Given the description of an element on the screen output the (x, y) to click on. 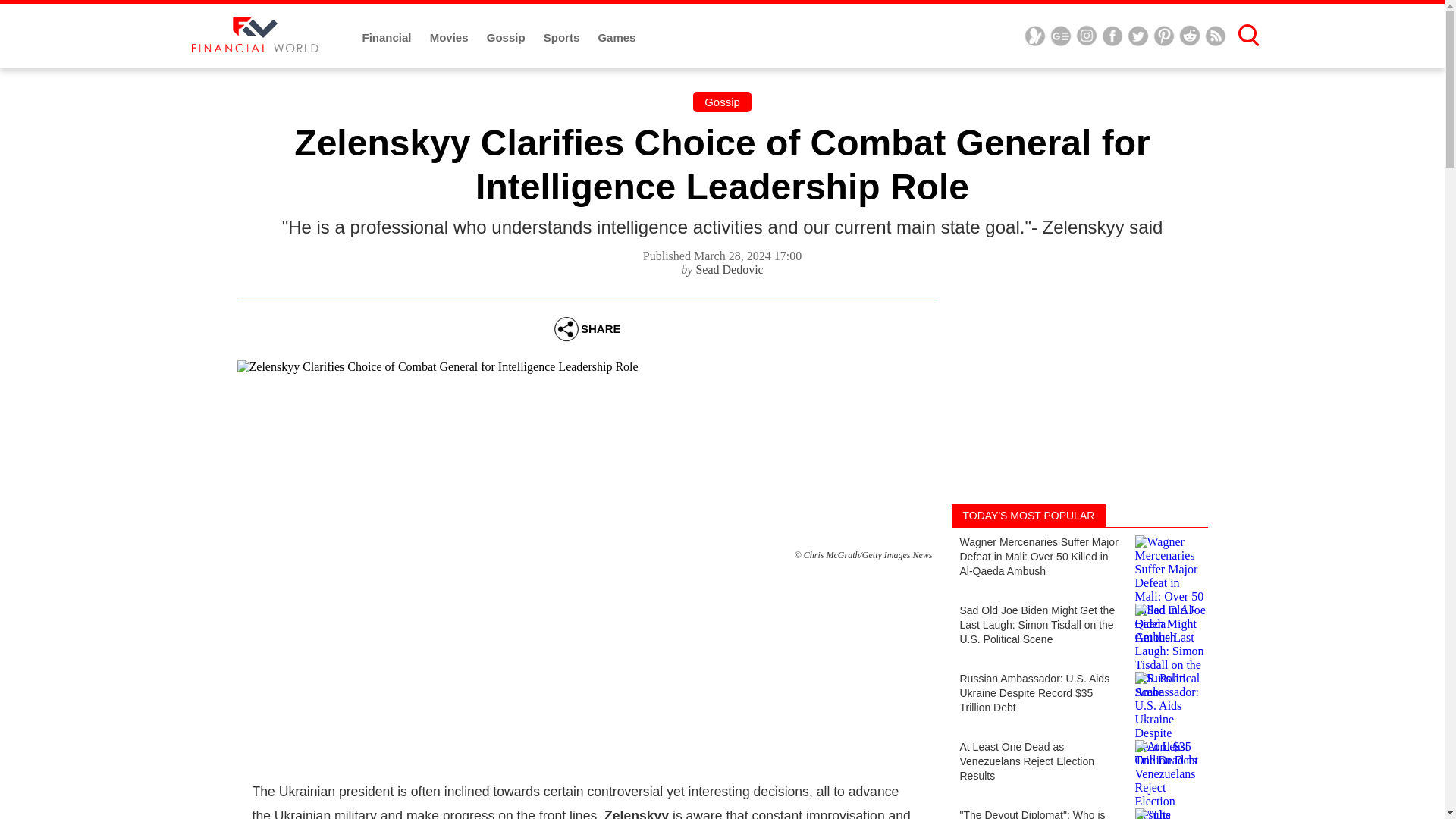
Sports (563, 37)
Sead Dedovic (728, 269)
Movies (450, 37)
At Least One Dead as Venezuelans Reject Election Results (1078, 766)
Gossip (721, 101)
Games (615, 37)
Financial (388, 37)
Gossip (507, 37)
